Given the description of an element on the screen output the (x, y) to click on. 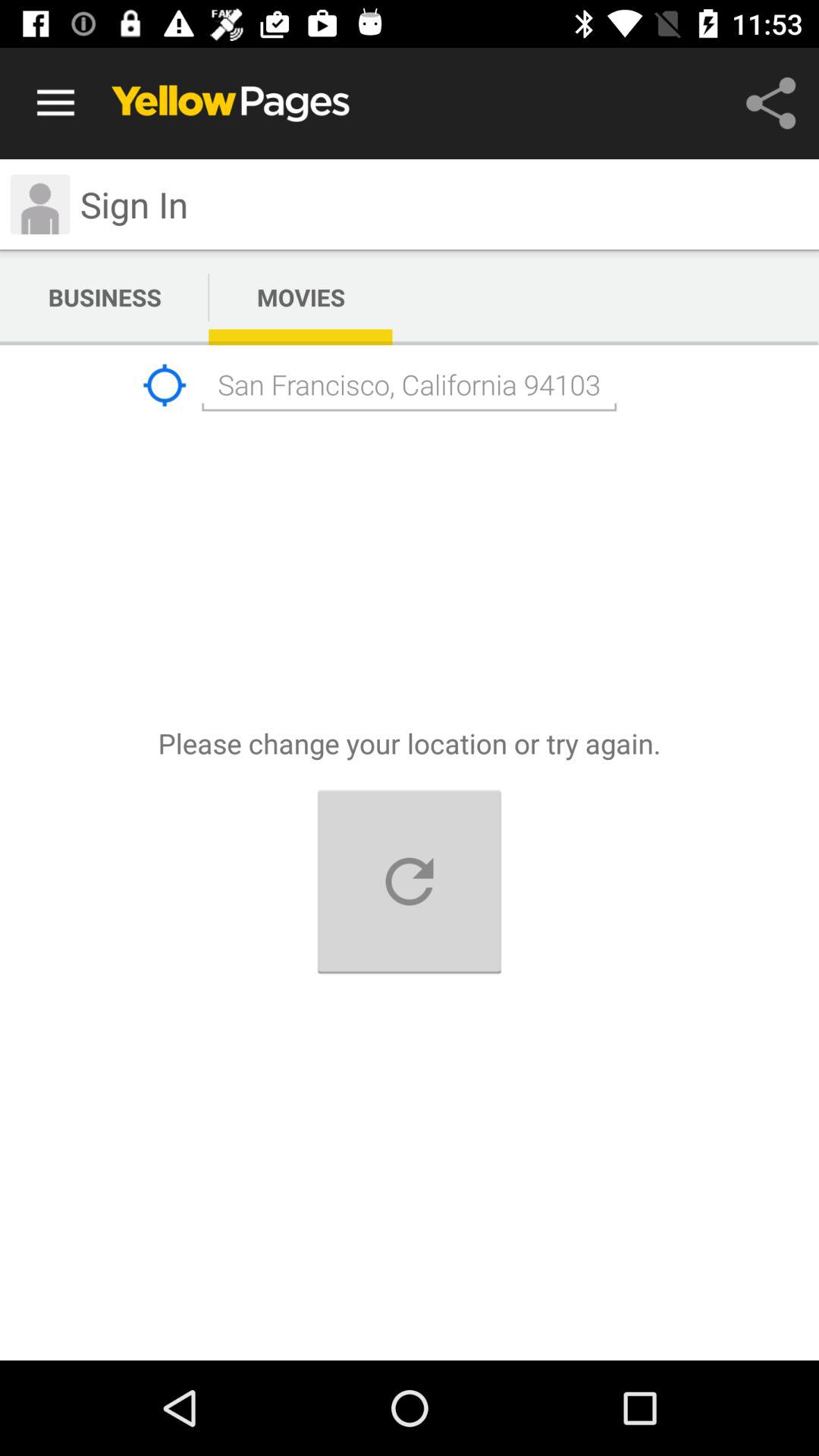
click on text next to business (301, 297)
select the location tracker icon (164, 385)
select the text below movies (409, 385)
click on the share symbol icon (771, 103)
click on the logo yellow pages (230, 103)
